Given the description of an element on the screen output the (x, y) to click on. 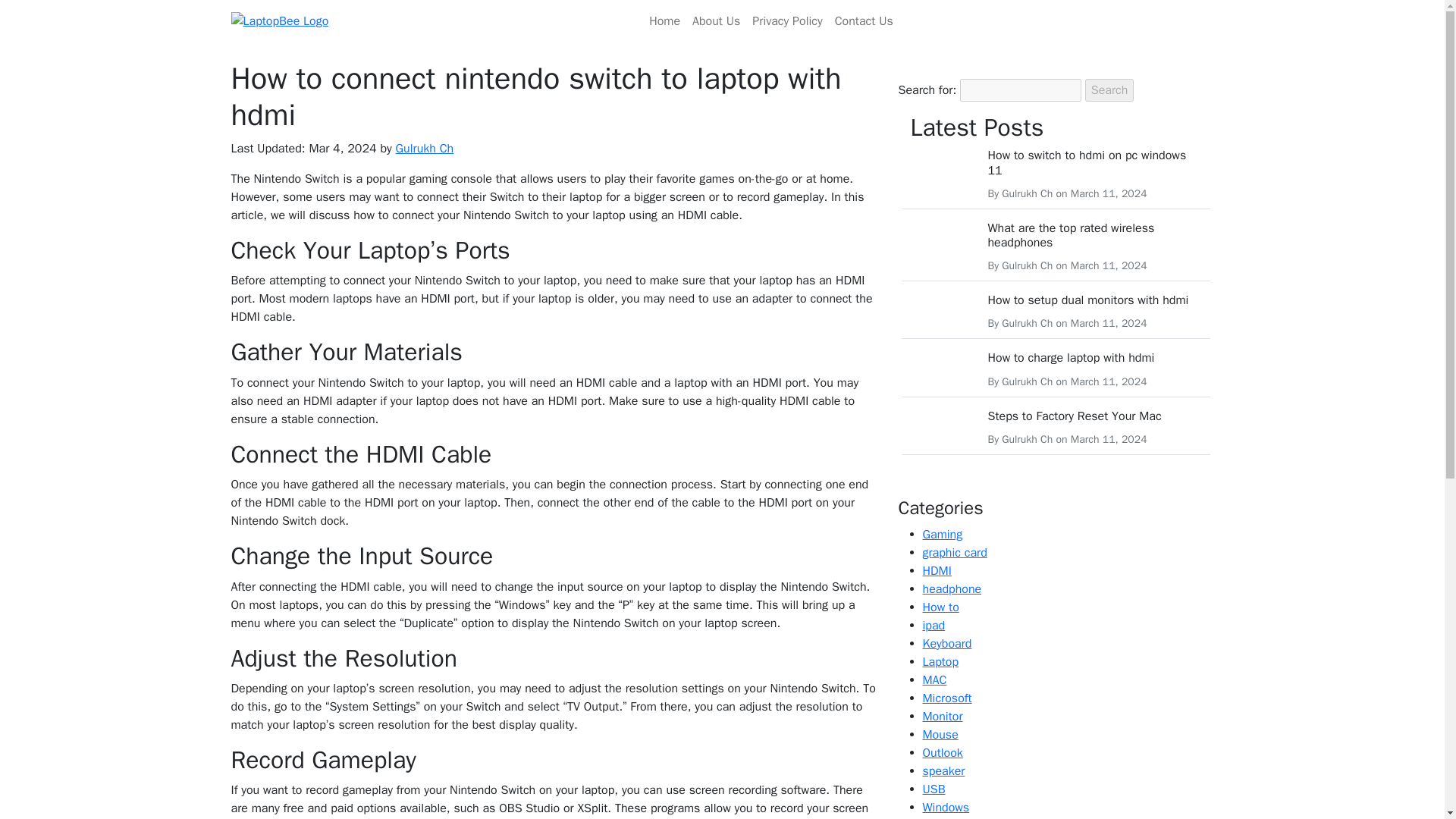
speaker (942, 770)
HDMI (935, 570)
Keyboard (946, 642)
How to switch to hdmi on pc windows 11 (1086, 162)
How to setup dual monitors with hdmi (1087, 299)
ipad (932, 624)
Outlook (941, 752)
headphone (951, 588)
Microsoft (946, 697)
How to (939, 606)
